Given the description of an element on the screen output the (x, y) to click on. 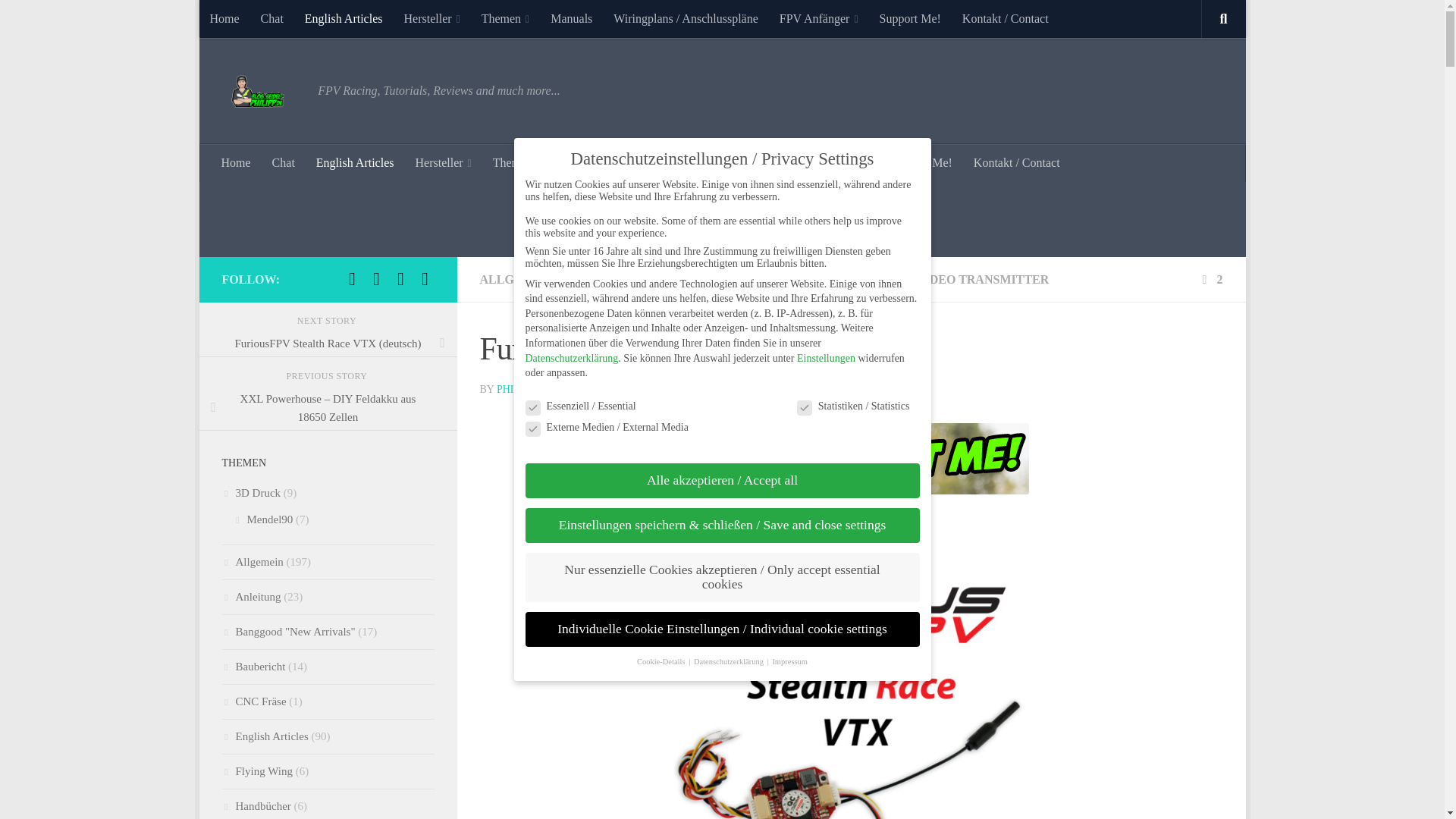
Chat (283, 162)
Skip to content (258, 20)
Hersteller (431, 18)
Themen (505, 18)
Follow me on Instagram (375, 279)
Chat (272, 18)
Folge mir auf Feedburner (423, 279)
Home (236, 162)
Manuals (571, 18)
Support Me! (910, 18)
Folge uns auf Youtube (400, 279)
Folge mir auf Facebook (351, 279)
English Articles (343, 18)
Home (223, 18)
